Given the description of an element on the screen output the (x, y) to click on. 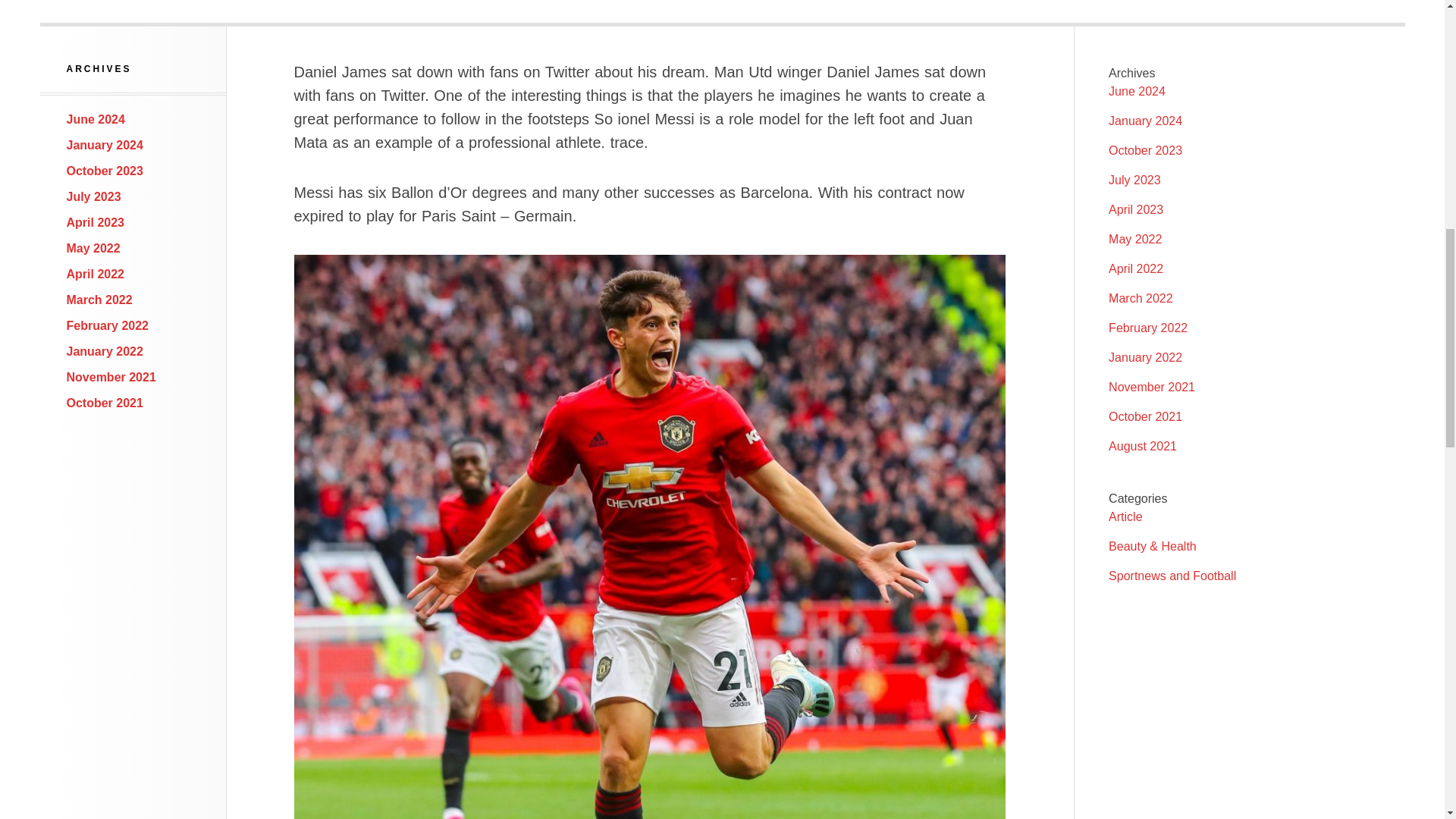
April 2022 (94, 273)
October 2023 (104, 170)
May 2022 (93, 247)
July 2023 (93, 196)
November 2021 (110, 377)
June 2024 (95, 119)
February 2022 (107, 325)
April 2023 (94, 222)
January 2024 (104, 144)
March 2022 (99, 299)
